Given the description of an element on the screen output the (x, y) to click on. 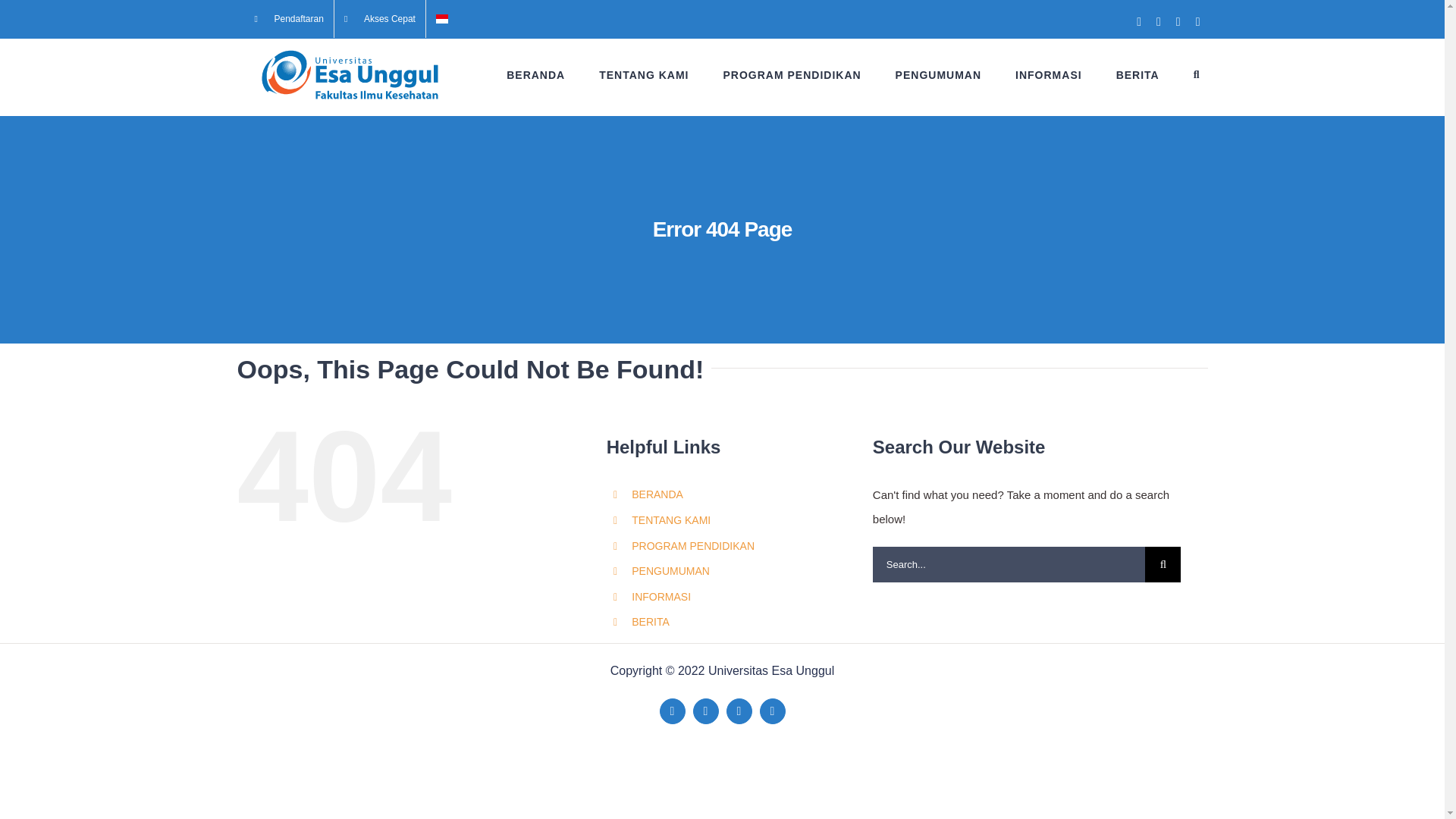
Facebook (672, 710)
Instagram (773, 710)
Twitter (706, 710)
Akses Cepat (379, 18)
Pendaftaran (288, 18)
TENTANG KAMI (643, 74)
PROGRAM PENDIDIKAN (791, 74)
YouTube (739, 710)
